Given the description of an element on the screen output the (x, y) to click on. 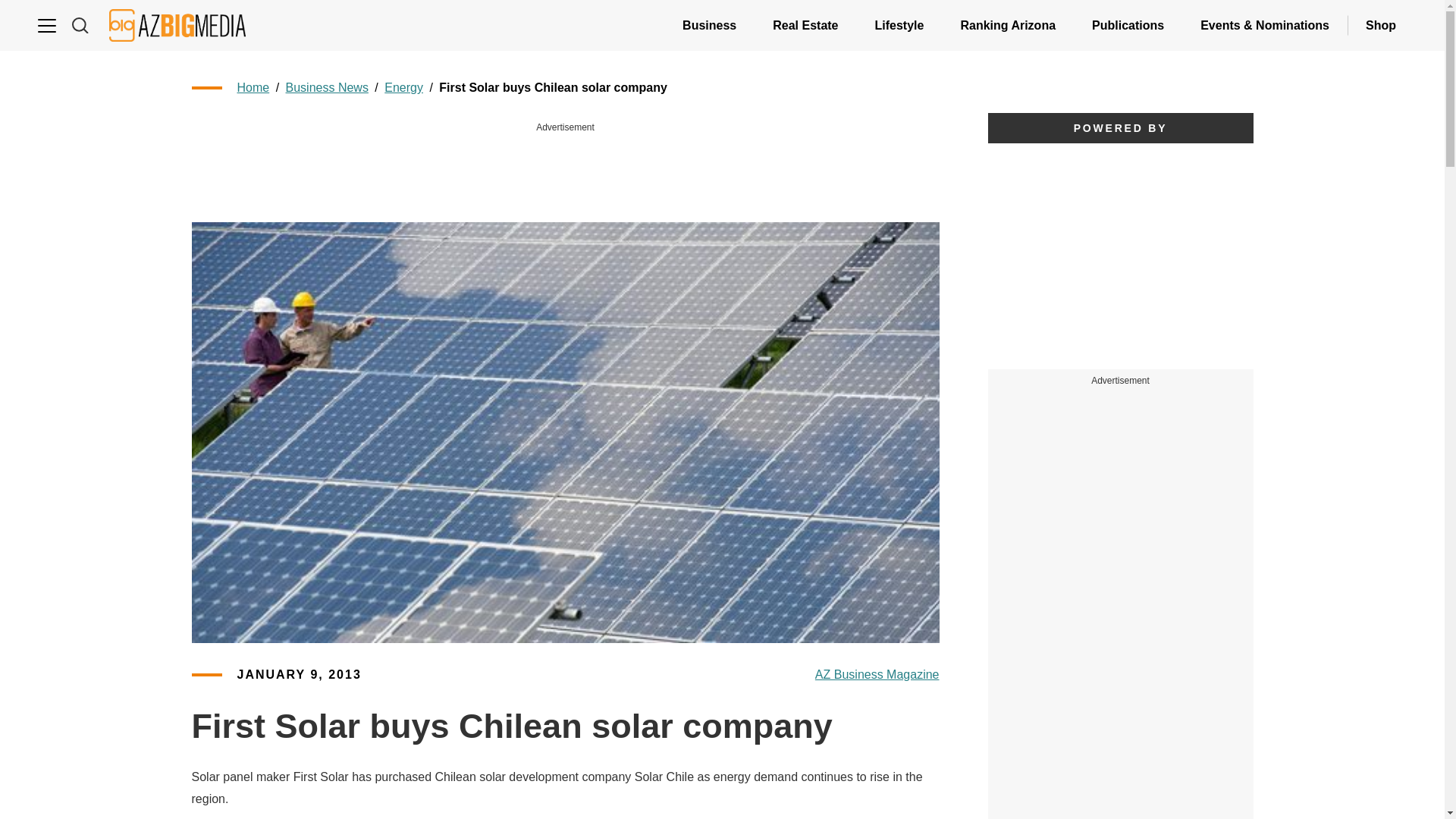
AZ Big Media Logo (177, 25)
Business (708, 25)
Posts by AZ Business Magazine (877, 675)
3rd party ad content (1119, 256)
3rd party ad content (565, 169)
3rd party ad content (1120, 504)
